Given the description of an element on the screen output the (x, y) to click on. 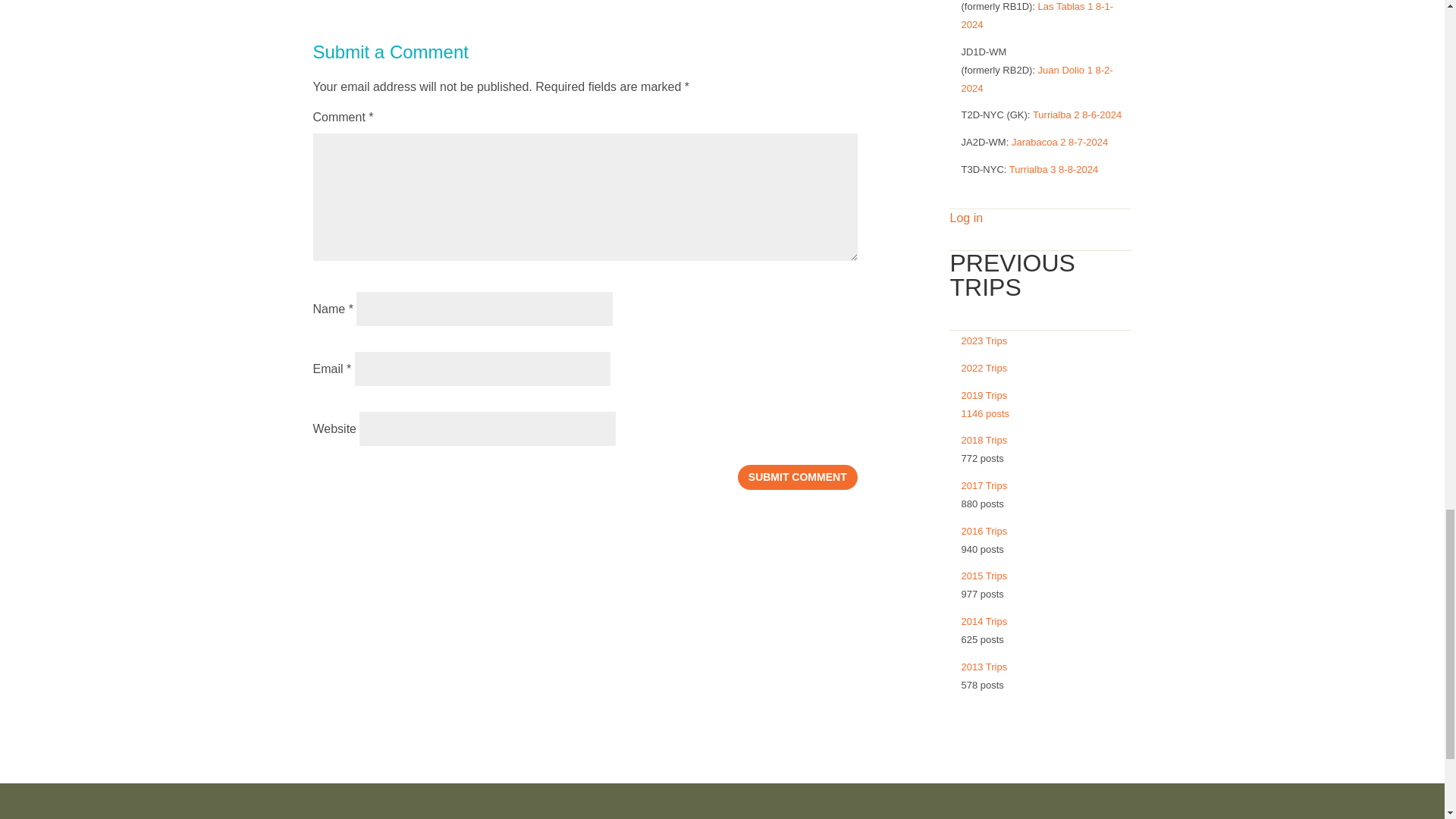
Submit Comment (797, 476)
